Given the description of an element on the screen output the (x, y) to click on. 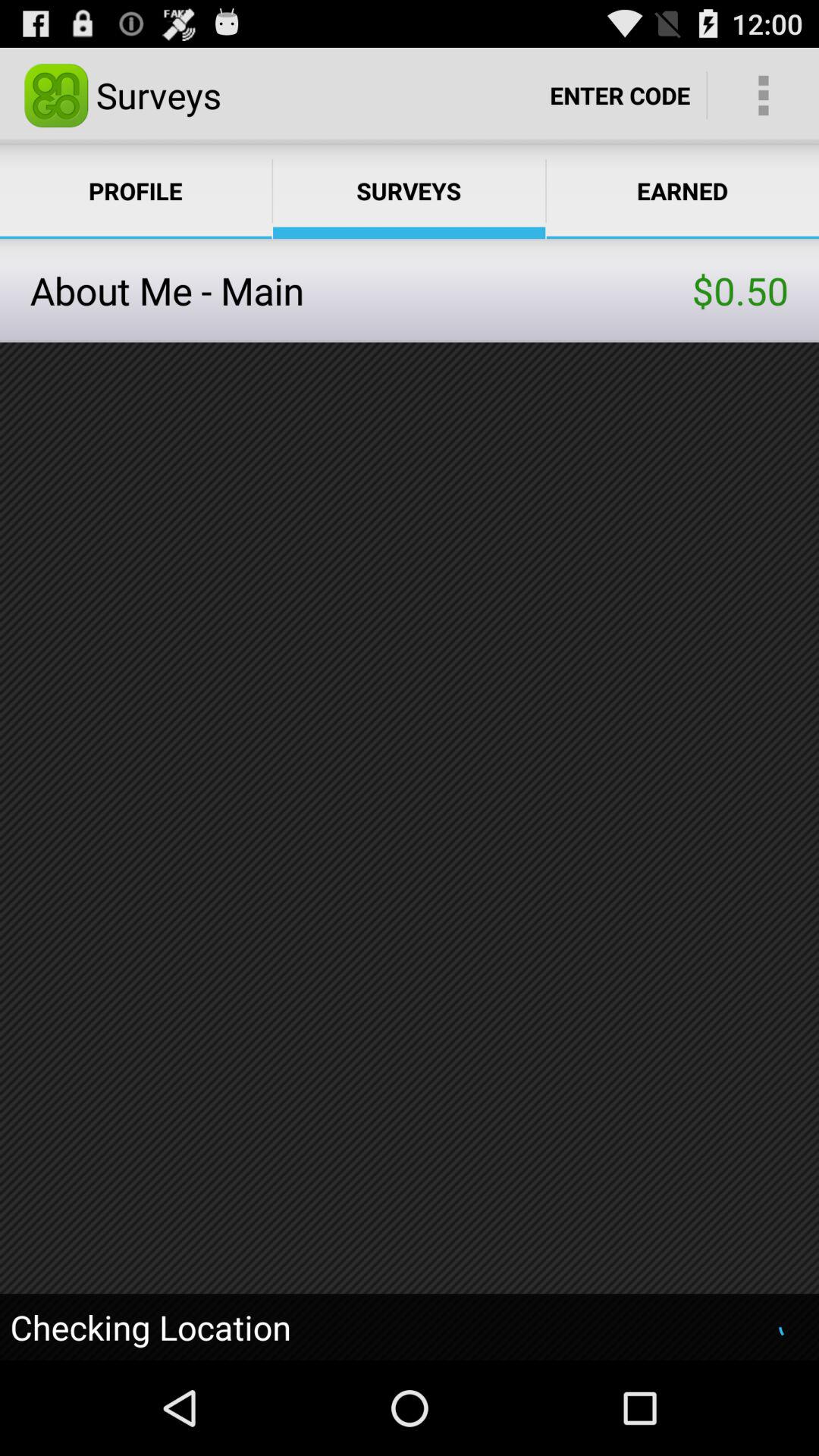
swipe to the enter code (620, 95)
